Given the description of an element on the screen output the (x, y) to click on. 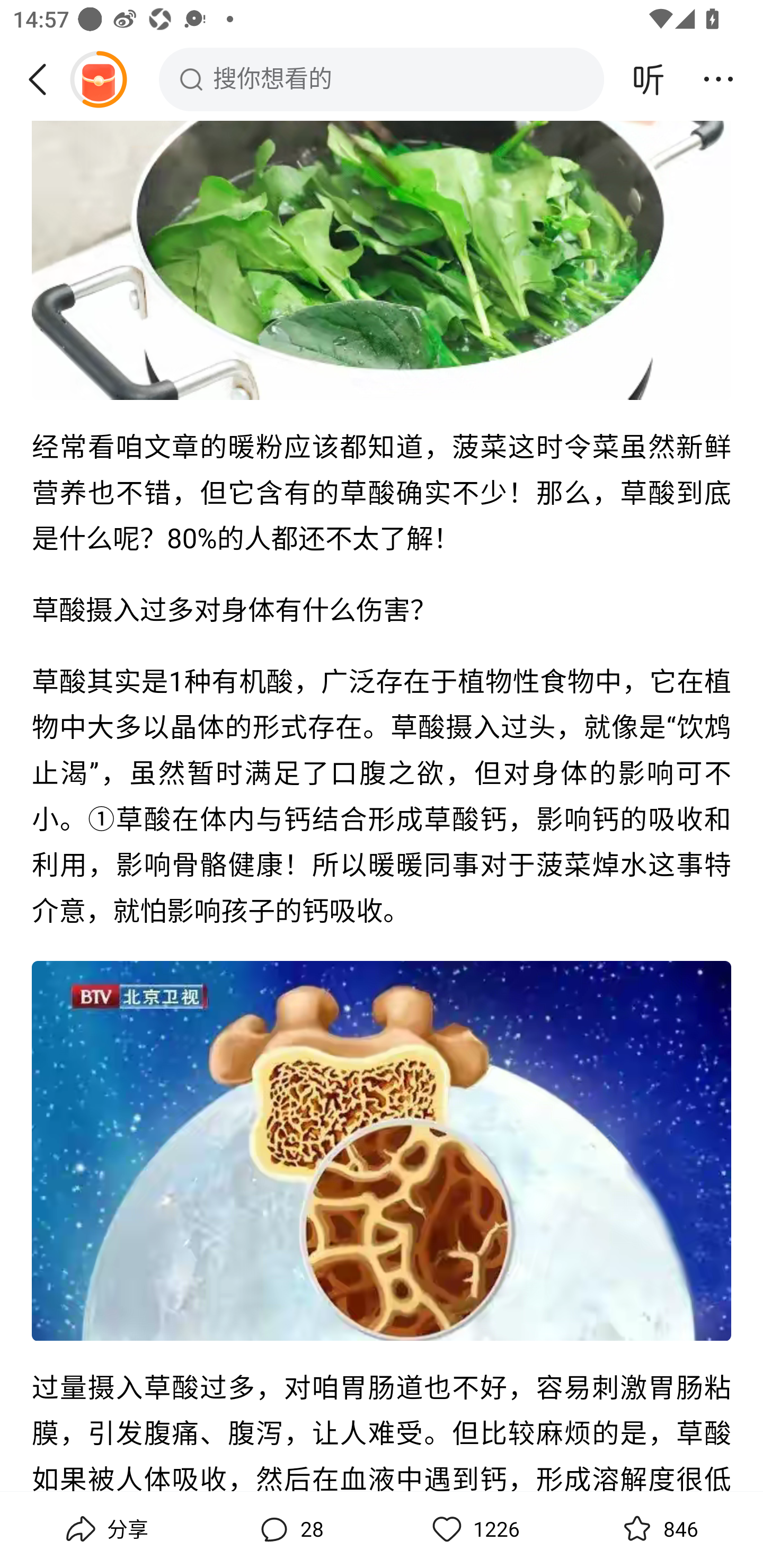
返回 (44, 78)
听头条 (648, 78)
更多操作 (718, 78)
搜你想看的 搜索框，搜你想看的 (381, 79)
阅读赚金币 (98, 79)
图片，点击识别内容 (381, 260)
图片，点击识别内容 (381, 1151)
分享 (104, 1529)
评论,28 28 (288, 1529)
收藏,846 846 (658, 1529)
